Given the description of an element on the screen output the (x, y) to click on. 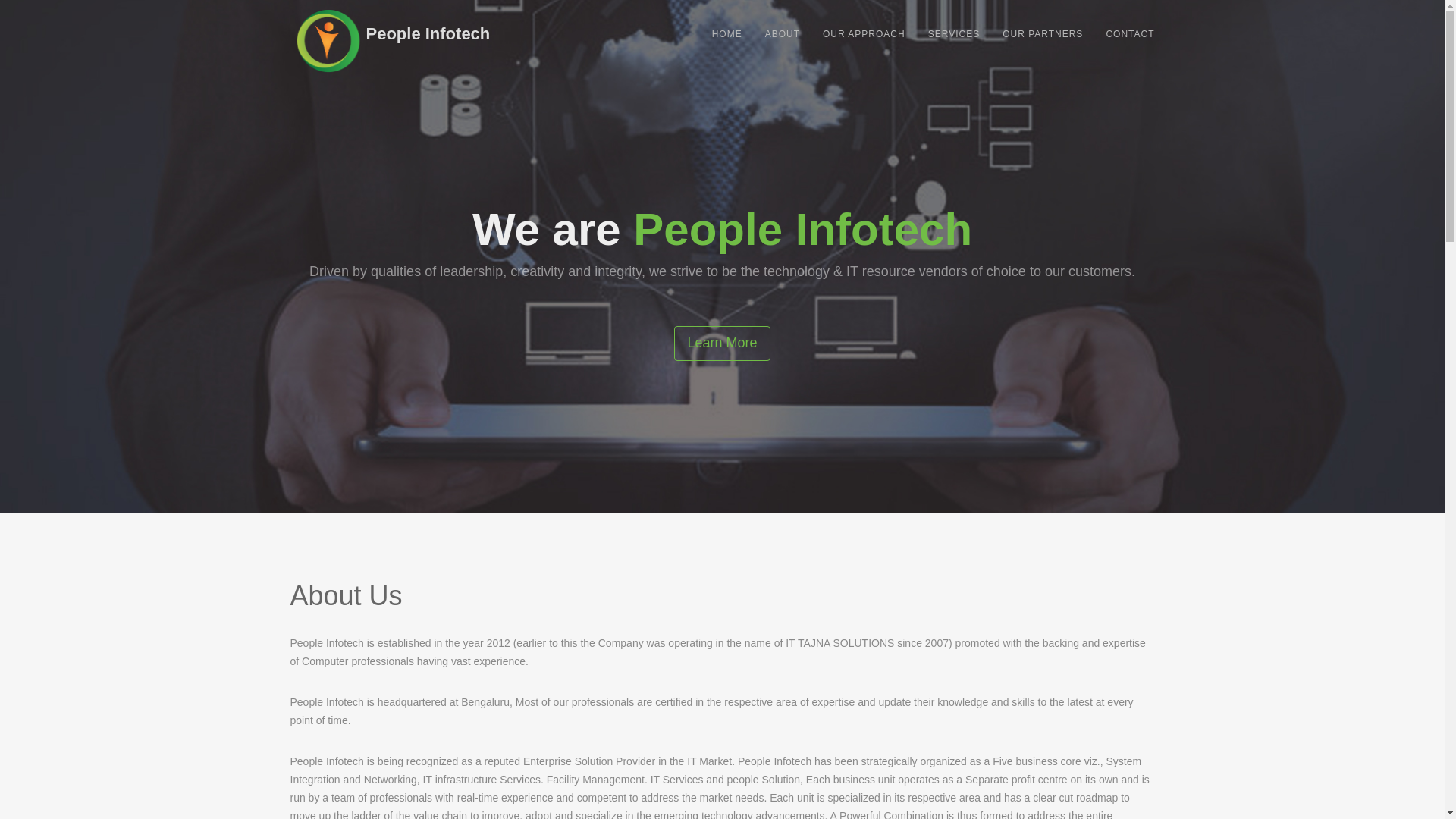
ABOUT (782, 34)
ABOUT (782, 34)
OUR APPROACH (863, 34)
OUR PARTNERS (1042, 34)
Learn More (722, 343)
SERVICES (954, 34)
Learn More (722, 343)
OUR APPROACH (863, 34)
CONTACT (1130, 34)
OUR PARTNERS (1042, 34)
